Given the description of an element on the screen output the (x, y) to click on. 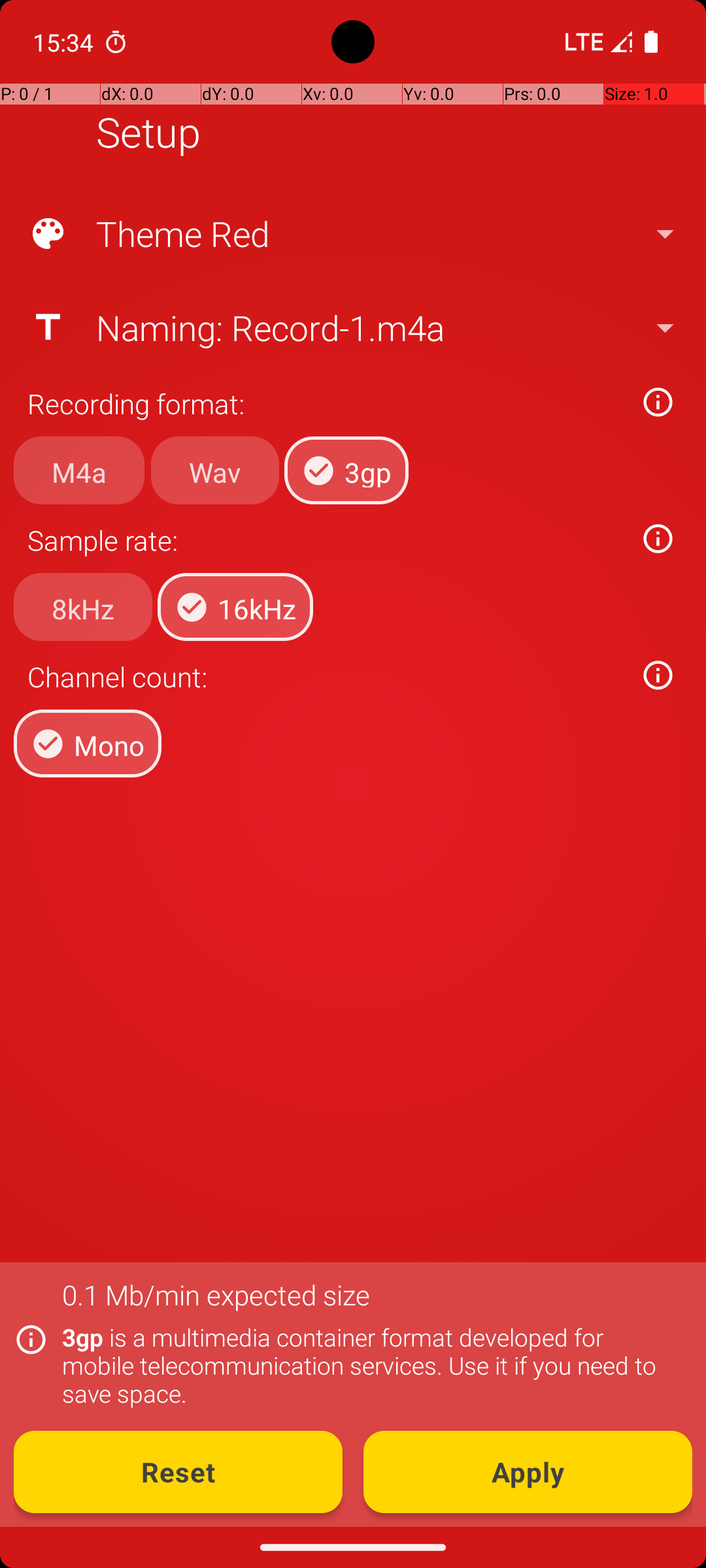
0.1 Mb/min expected size Element type: android.widget.TextView (215, 1294)
3gp is a multimedia container format developed for mobile telecommunication services. Use it if you need to save space. Element type: android.widget.TextView (370, 1364)
Theme Red Element type: android.widget.TextView (352, 233)
Clock notification:  Element type: android.widget.ImageView (115, 41)
Phone one bar. Element type: android.widget.FrameLayout (595, 41)
